Given the description of an element on the screen output the (x, y) to click on. 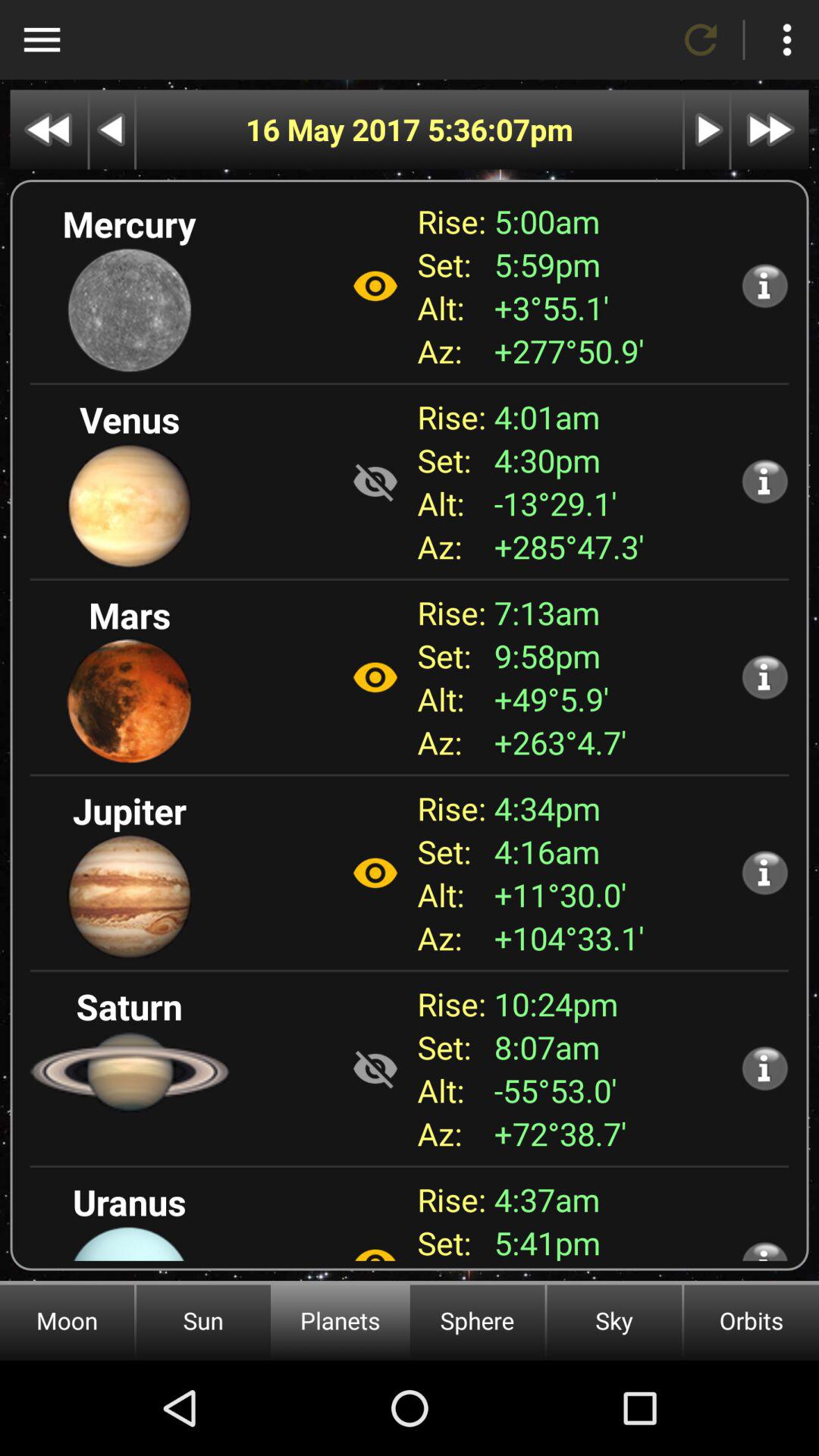
show information (764, 677)
